Given the description of an element on the screen output the (x, y) to click on. 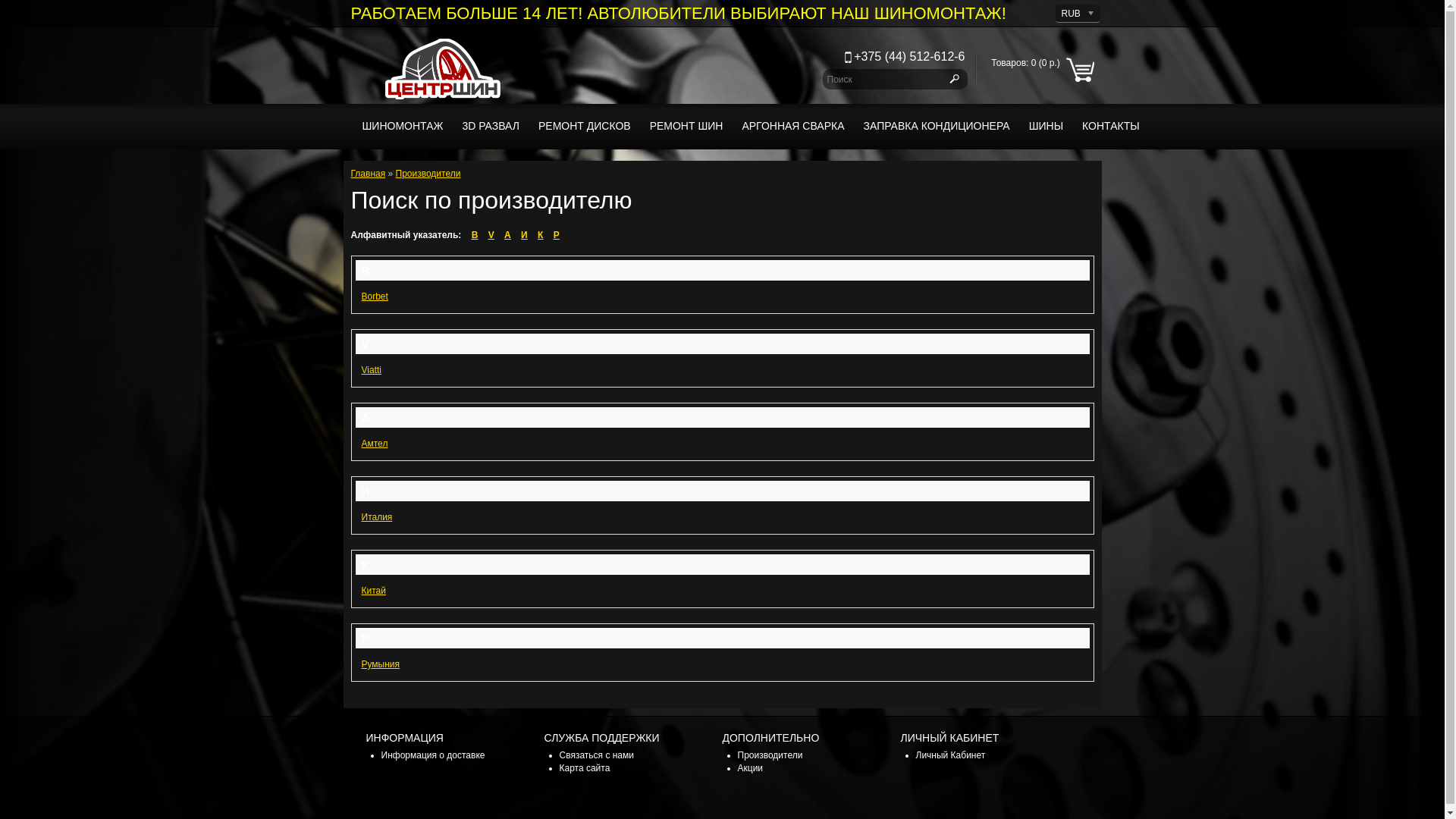
Borbet Element type: text (373, 296)
RUB Element type: text (1077, 12)
V Element type: text (491, 234)
Viatti Element type: text (370, 369)
B Element type: text (474, 234)
